Given the description of an element on the screen output the (x, y) to click on. 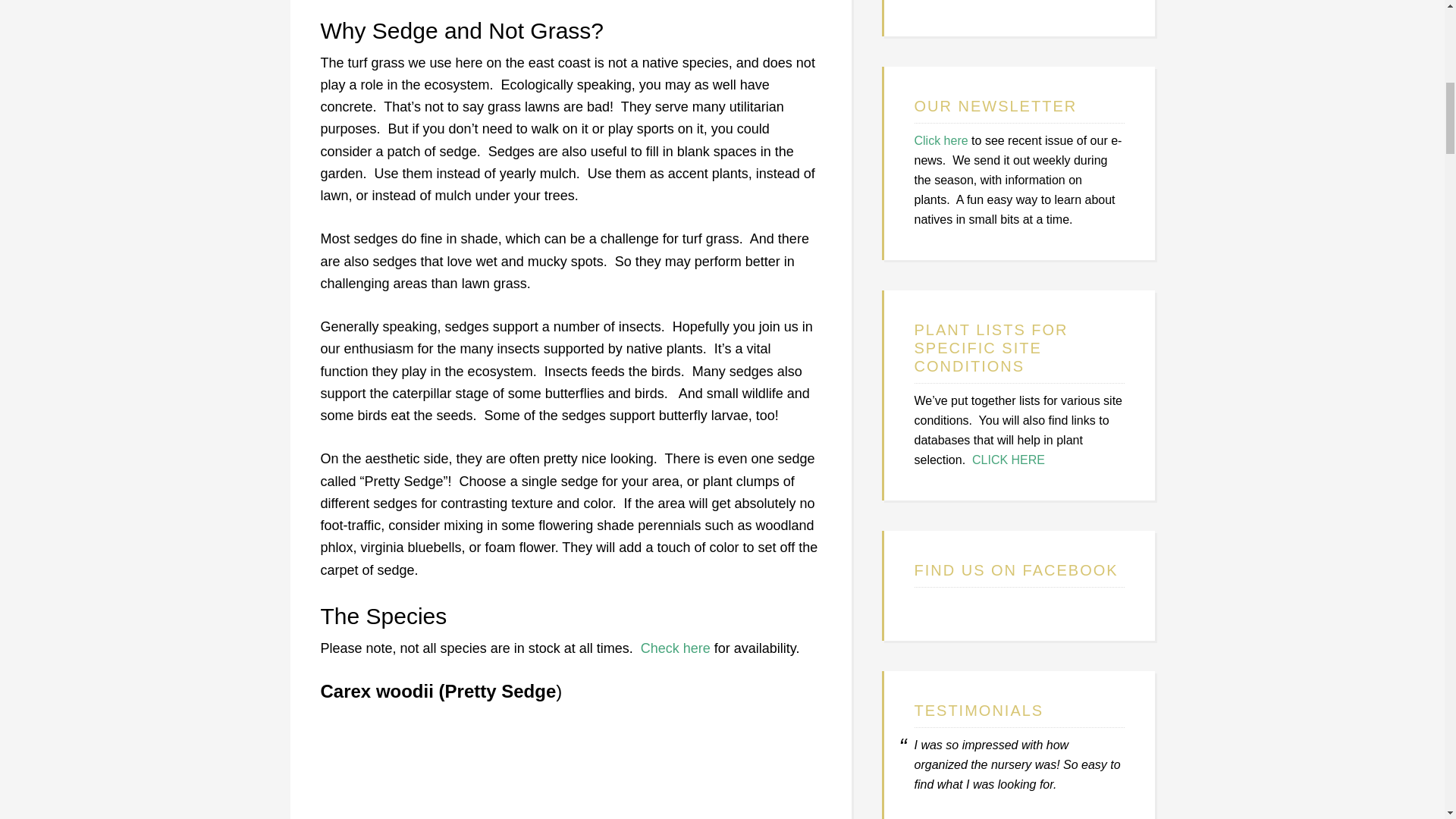
Click here (941, 140)
Check here (675, 648)
CLICK HERE (1008, 459)
Perennial Plants (958, 1)
